Given the description of an element on the screen output the (x, y) to click on. 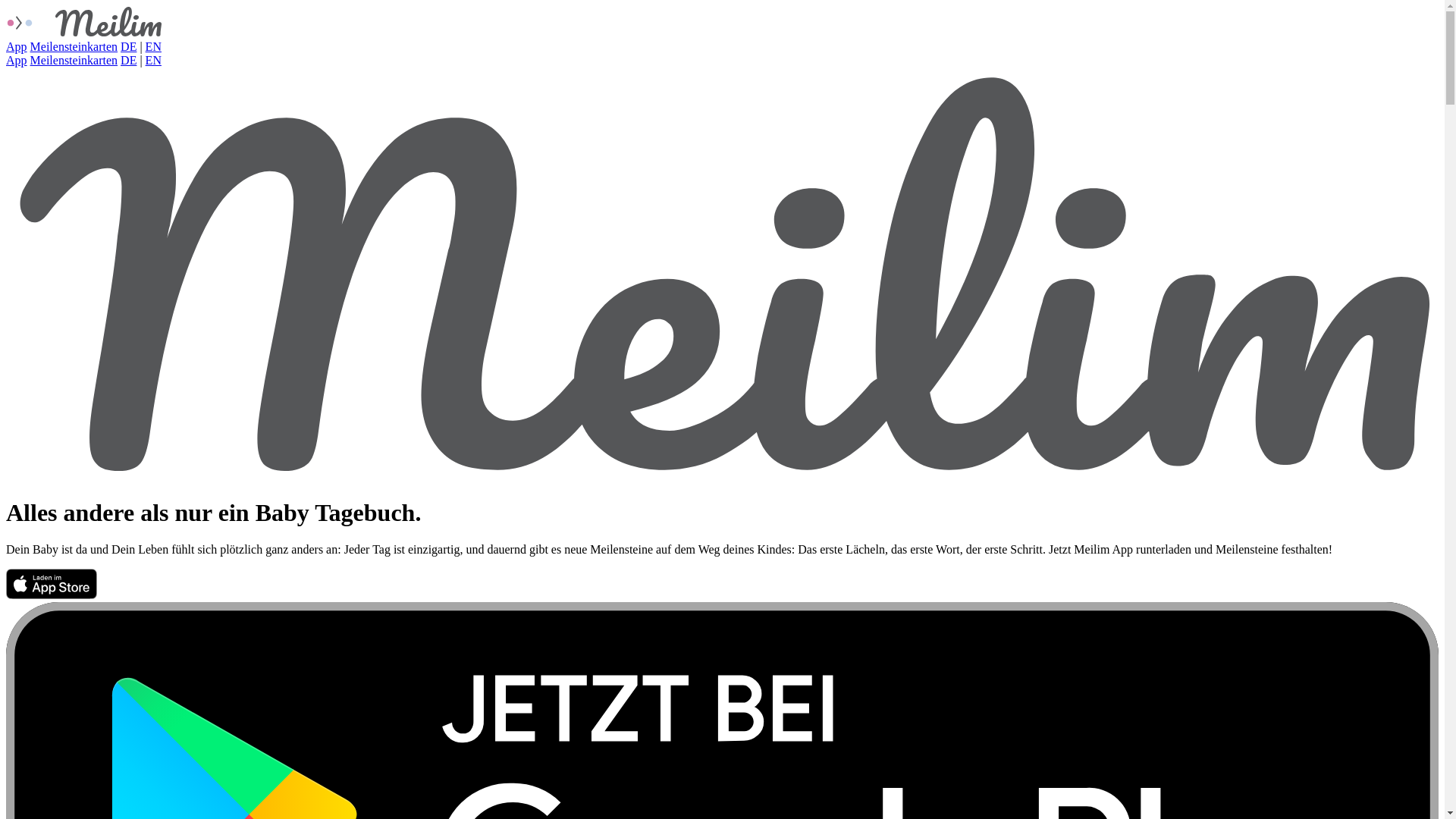
App Element type: text (16, 59)
DE Element type: text (128, 59)
EN Element type: text (153, 59)
Meilensteinkarten Element type: text (74, 46)
App Element type: text (16, 46)
Die Meilim App im Appstore Element type: hover (51, 583)
meilim Element type: hover (84, 21)
DE Element type: text (128, 46)
meilim Element type: hover (84, 32)
header logo Element type: hover (722, 273)
EN Element type: text (153, 46)
Meilensteinkarten Element type: text (74, 59)
Meilim Appstore Element type: hover (51, 594)
